Given the description of an element on the screen output the (x, y) to click on. 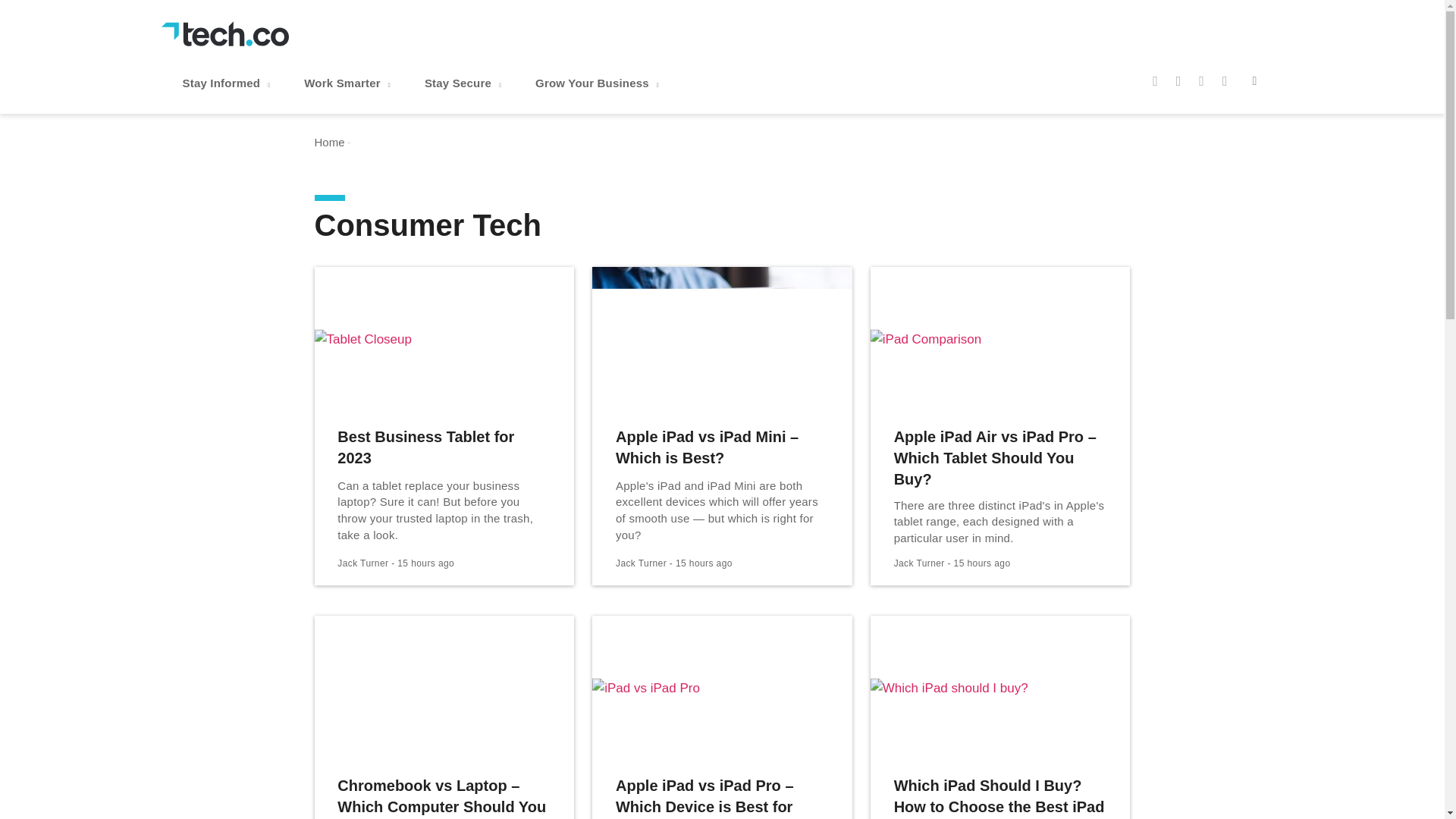
Work Smarter (348, 83)
Stay Informed (227, 83)
Stay Secure (464, 83)
Grow Your Business (598, 83)
